Given the description of an element on the screen output the (x, y) to click on. 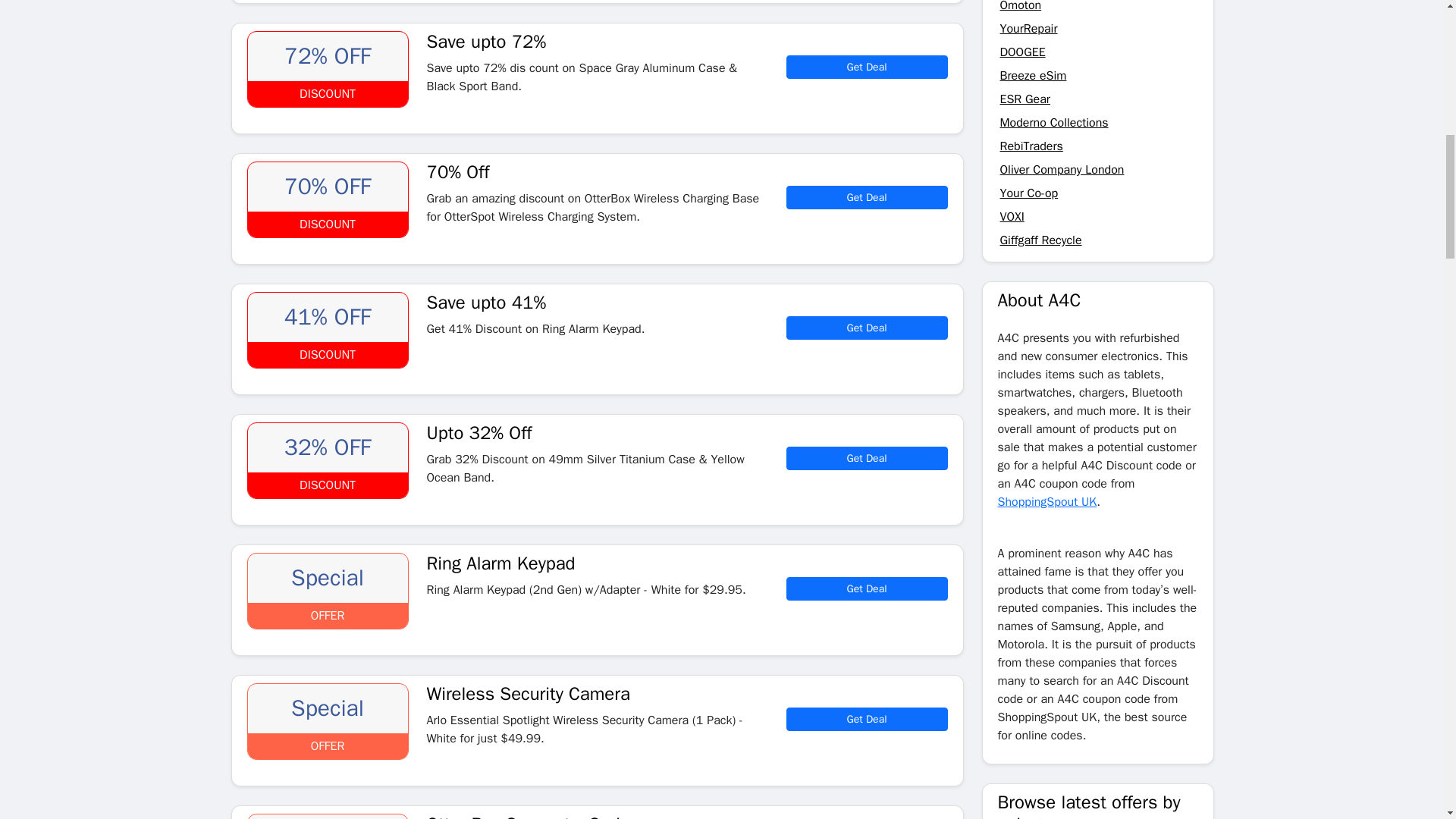
RebiTraders (1030, 145)
DOOGEE (1021, 52)
Moderno Collections (1053, 122)
ESR Gear (1023, 99)
Breeze eSim (1031, 75)
YourRepair (1027, 28)
Oliver Company London (1061, 169)
ShoppingSpout UK (1047, 501)
Your Co-op (1028, 192)
Omoton (1019, 6)
